Given the description of an element on the screen output the (x, y) to click on. 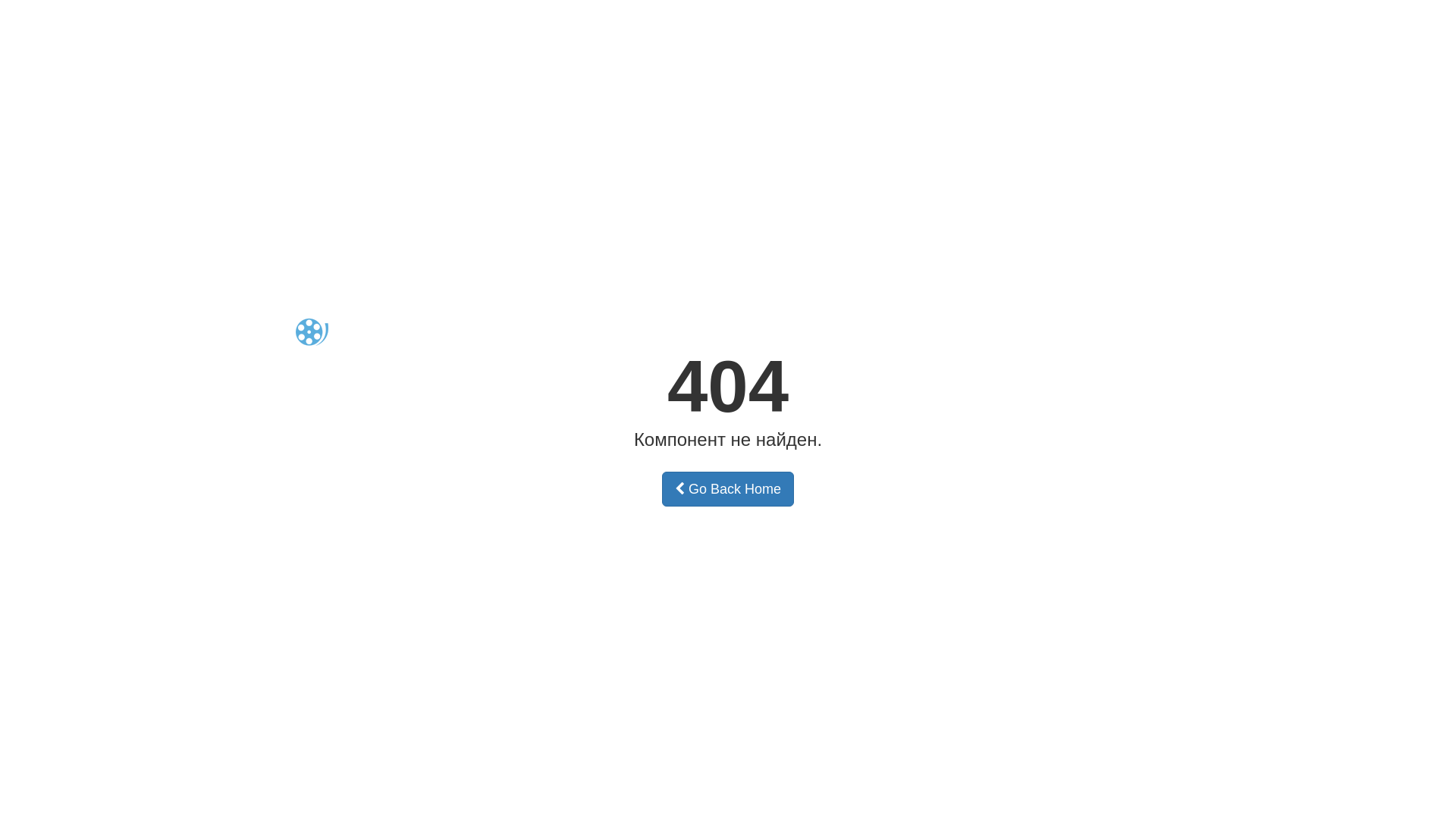
Go Back Home Element type: text (727, 488)
